Given the description of an element on the screen output the (x, y) to click on. 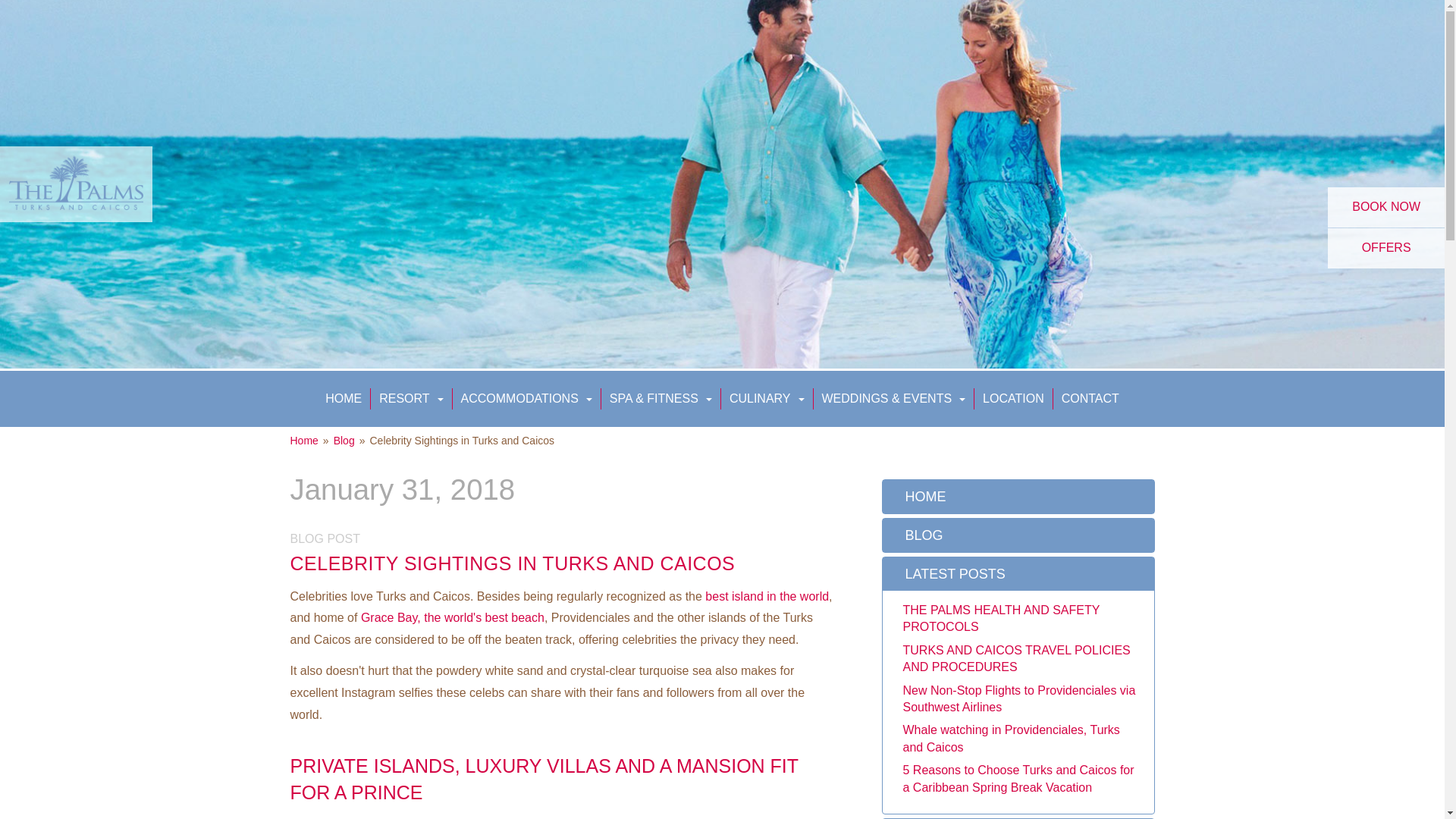
CULINARY (767, 398)
RESORT (410, 398)
ACCOMMODATIONS (526, 398)
HOME (342, 398)
